Given the description of an element on the screen output the (x, y) to click on. 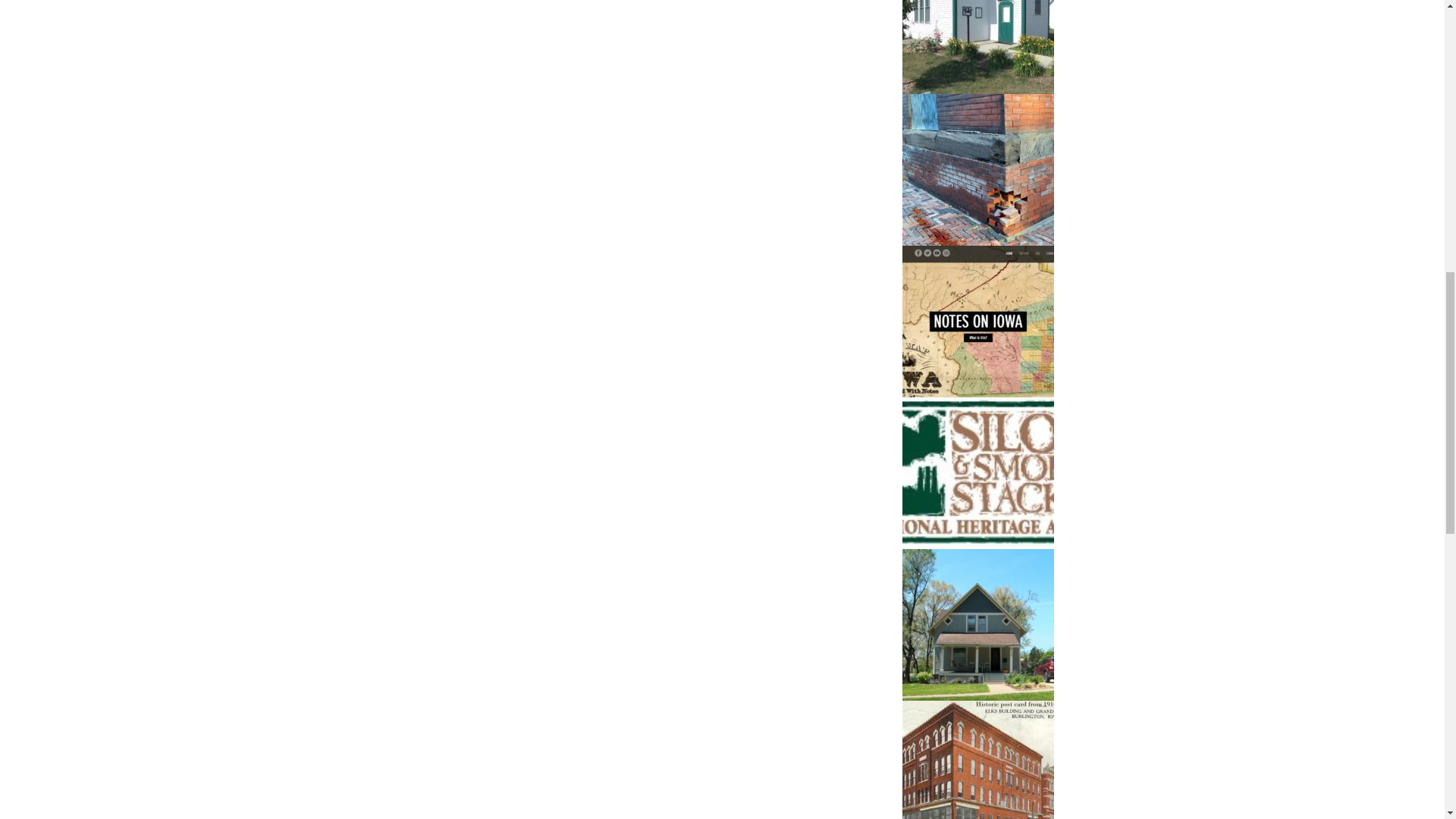
RFP for Redevelopment of Burlington Elks Building (978, 760)
Notes on Iowa (978, 321)
2021 Preservation at Its Best Nomination Form (978, 624)
